Given the description of an element on the screen output the (x, y) to click on. 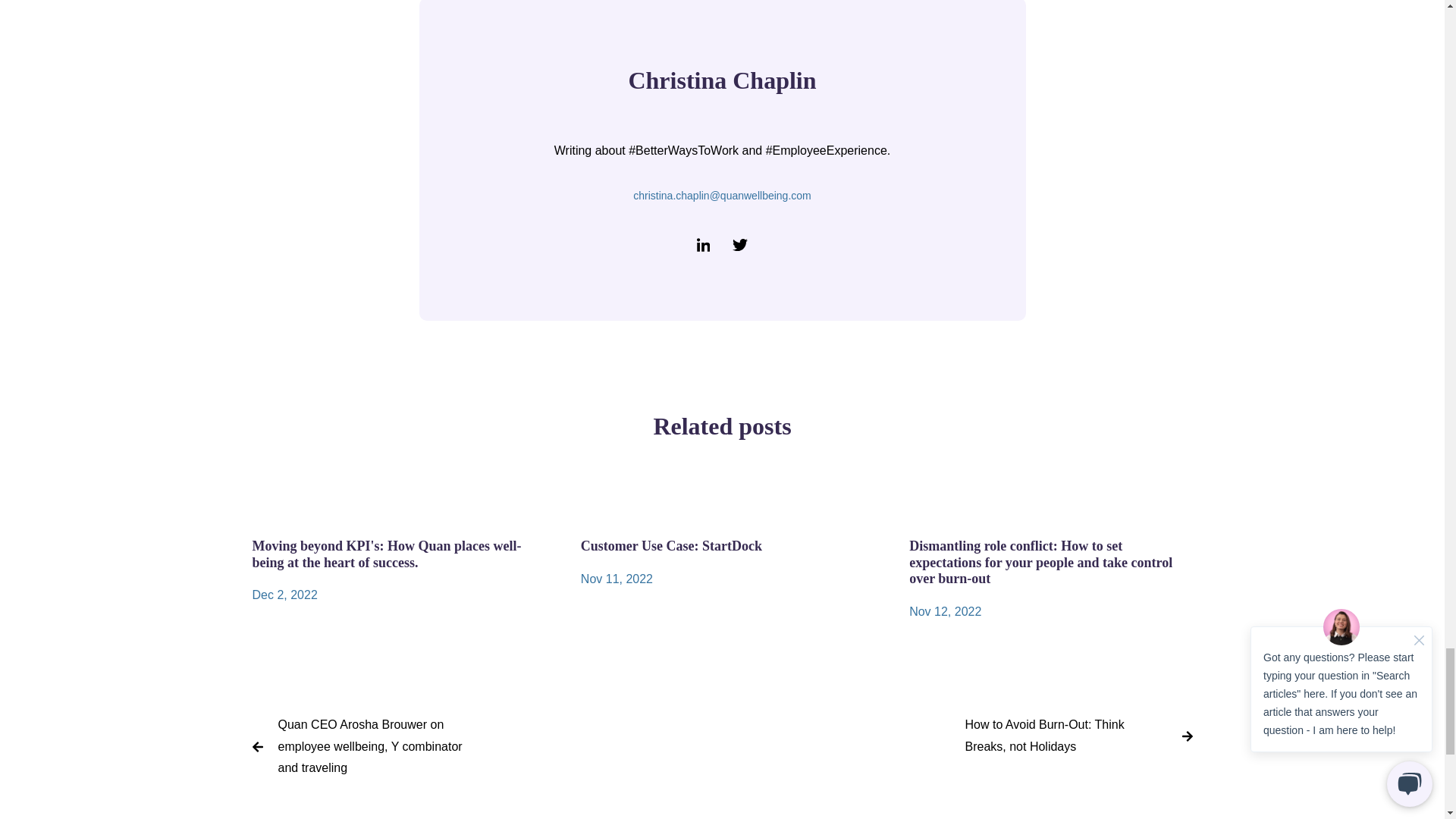
Follow me on Twitter (740, 244)
Follow me on LinkedIn (703, 244)
Follow me on Twitter (740, 244)
